Given the description of an element on the screen output the (x, y) to click on. 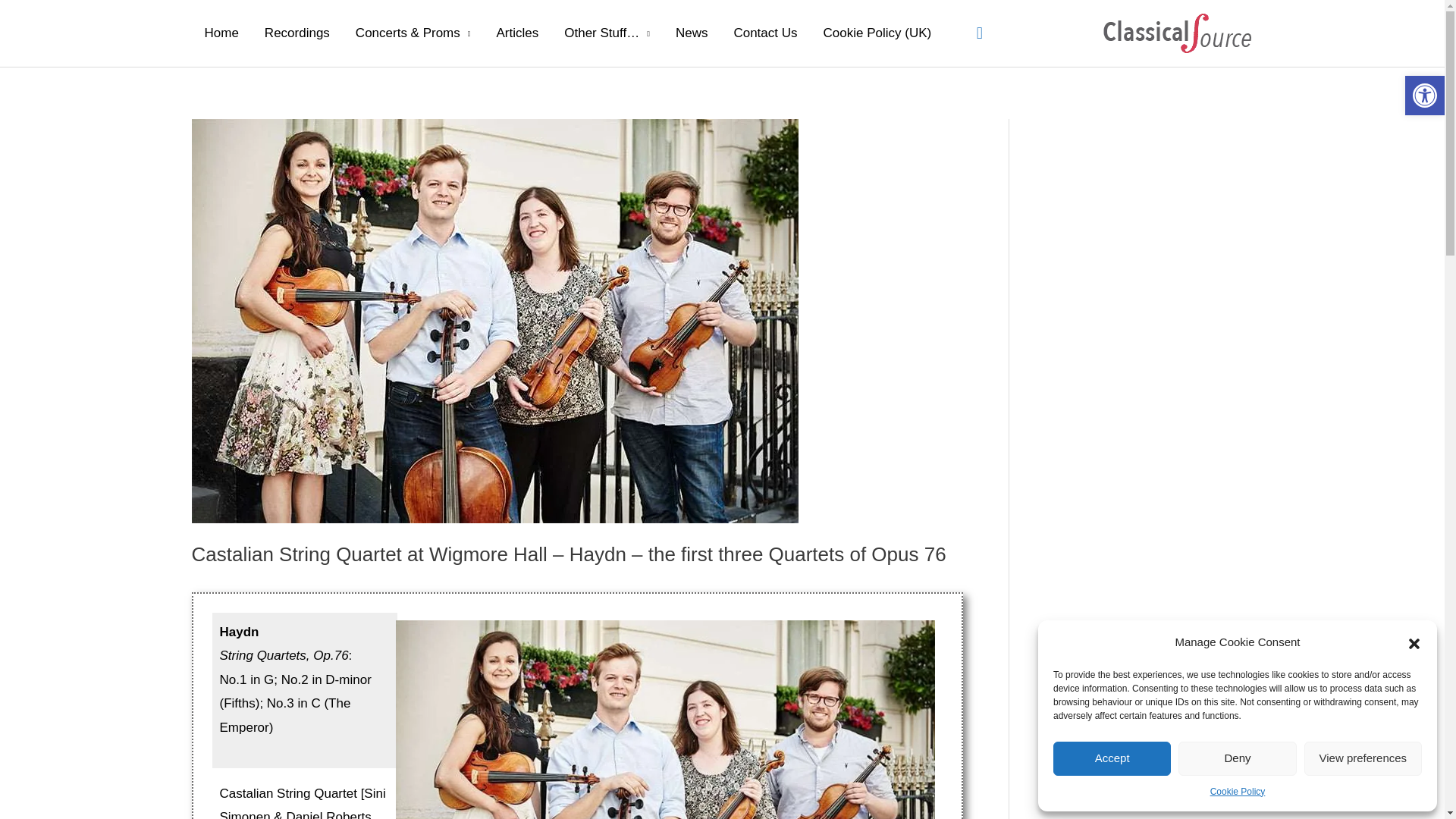
Accept (1111, 758)
Articles (517, 33)
News (691, 33)
Recordings (296, 33)
Accessibility Tools (1424, 95)
Home (220, 33)
Deny (1236, 758)
Cookie Policy (1237, 791)
View preferences (1363, 758)
